Given the description of an element on the screen output the (x, y) to click on. 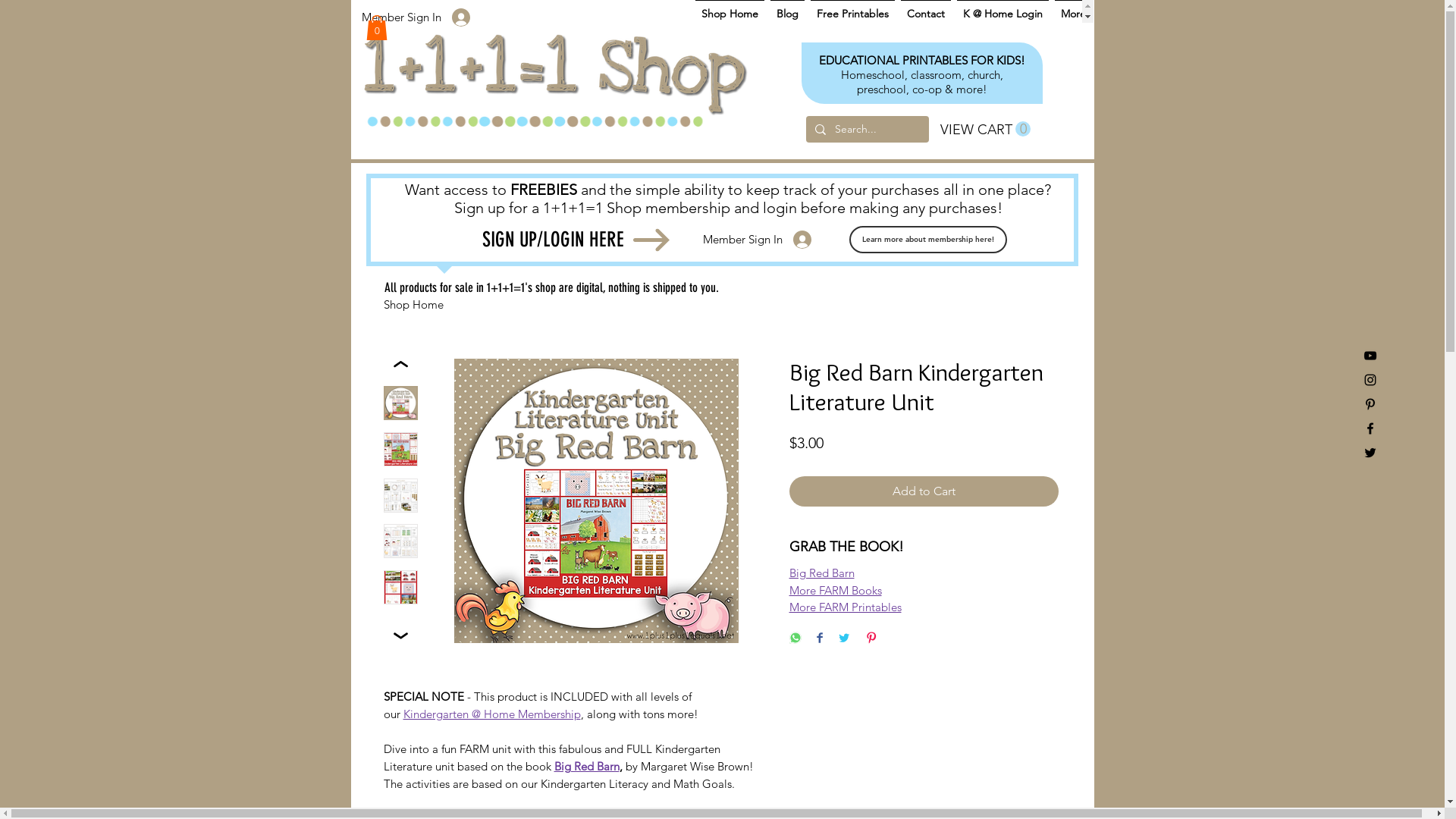
Member Sign In Element type: text (415, 16)
Member Sign In Element type: text (756, 239)
More FARM Printables Element type: text (844, 606)
More FARM Books Element type: text (834, 590)
Shop Home Element type: text (728, 11)
Learn more about membership here! Element type: text (928, 239)
Shop Home Element type: text (413, 304)
Free Printables Element type: text (851, 11)
K @ Home Login Element type: text (1002, 11)
Contact Element type: text (925, 11)
Big Red Barn Element type: text (820, 572)
Kindergarten @ Home Membership Element type: text (491, 713)
Blog Element type: text (787, 11)
0
VIEW CART Element type: text (985, 129)
Add to Cart Element type: text (922, 491)
0 Element type: text (375, 27)
Big Red Barn Element type: text (585, 766)
